Given the description of an element on the screen output the (x, y) to click on. 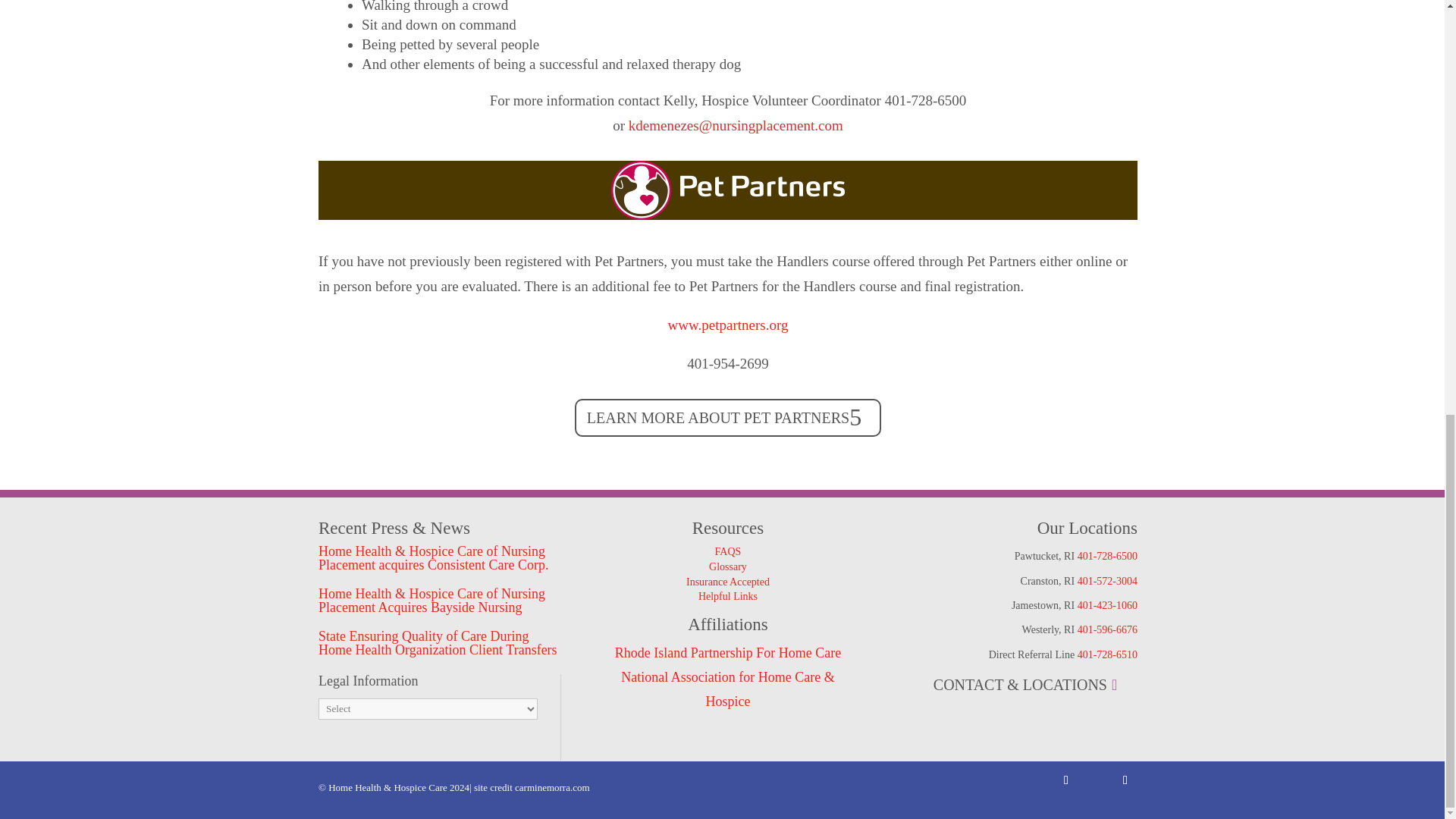
Follow on Facebook (1066, 780)
Follow on Instagram (1125, 780)
